Given the description of an element on the screen output the (x, y) to click on. 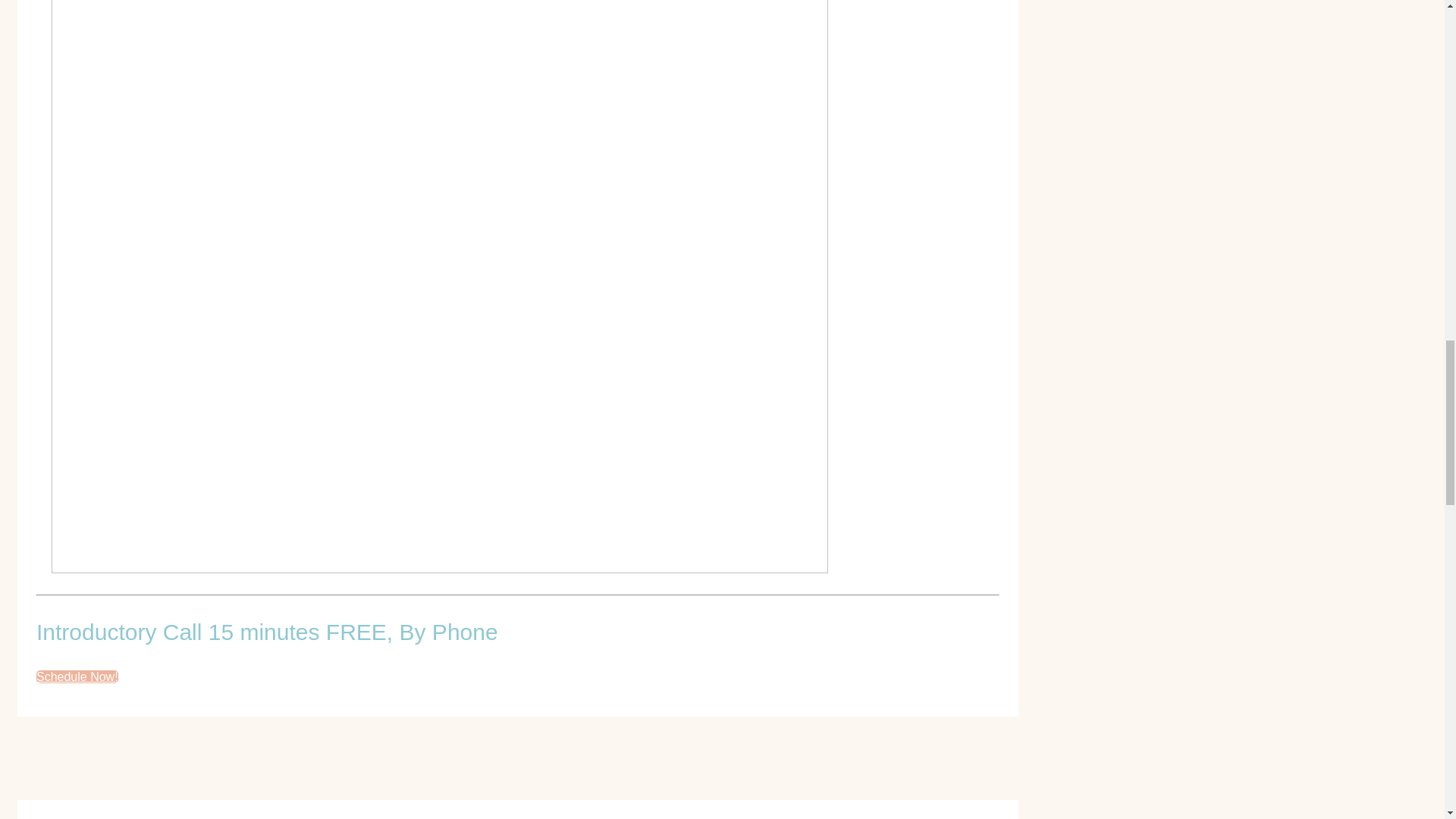
Schedule Now! (76, 676)
